Given the description of an element on the screen output the (x, y) to click on. 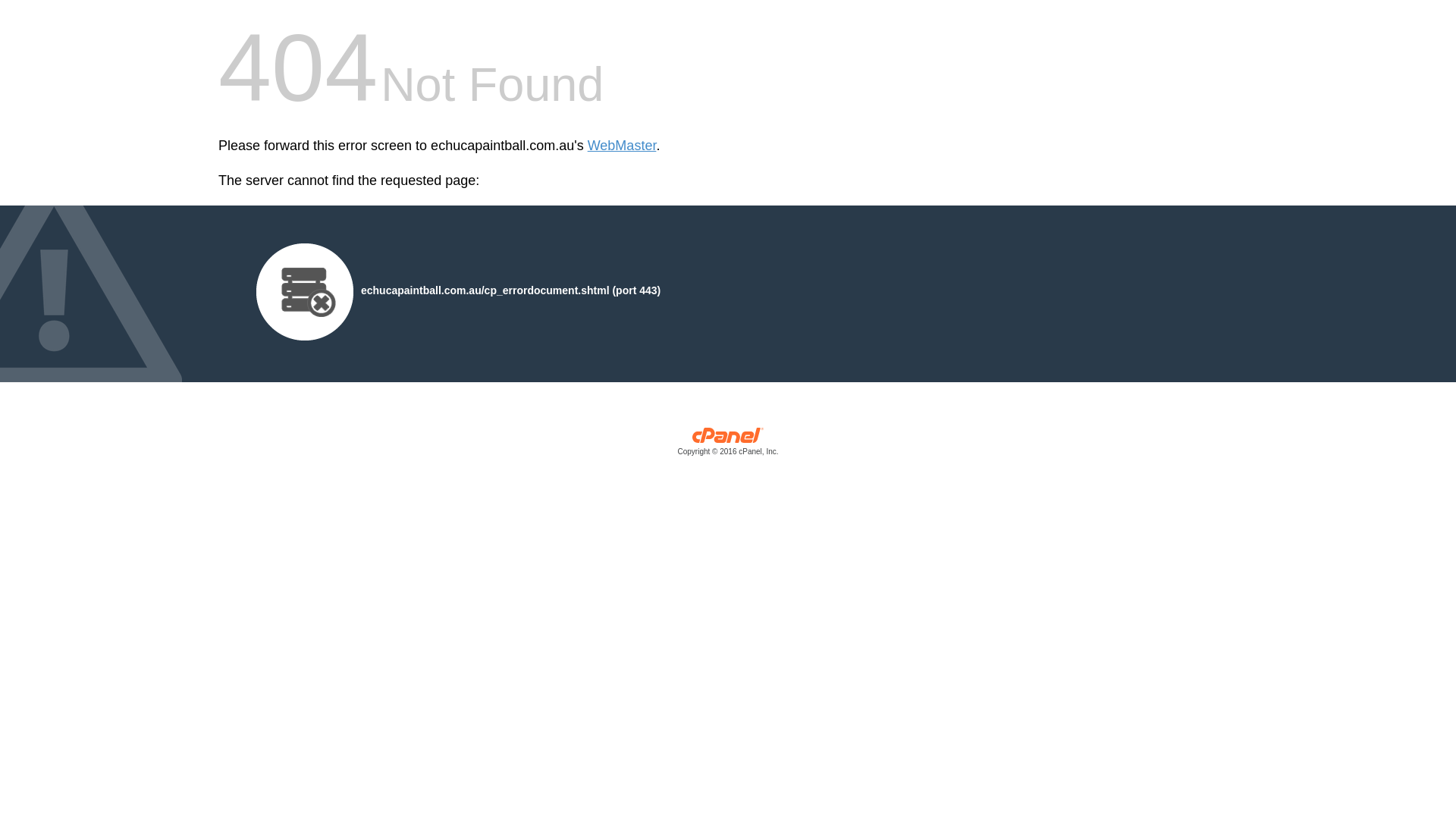
WebMaster Element type: text (621, 145)
